Given the description of an element on the screen output the (x, y) to click on. 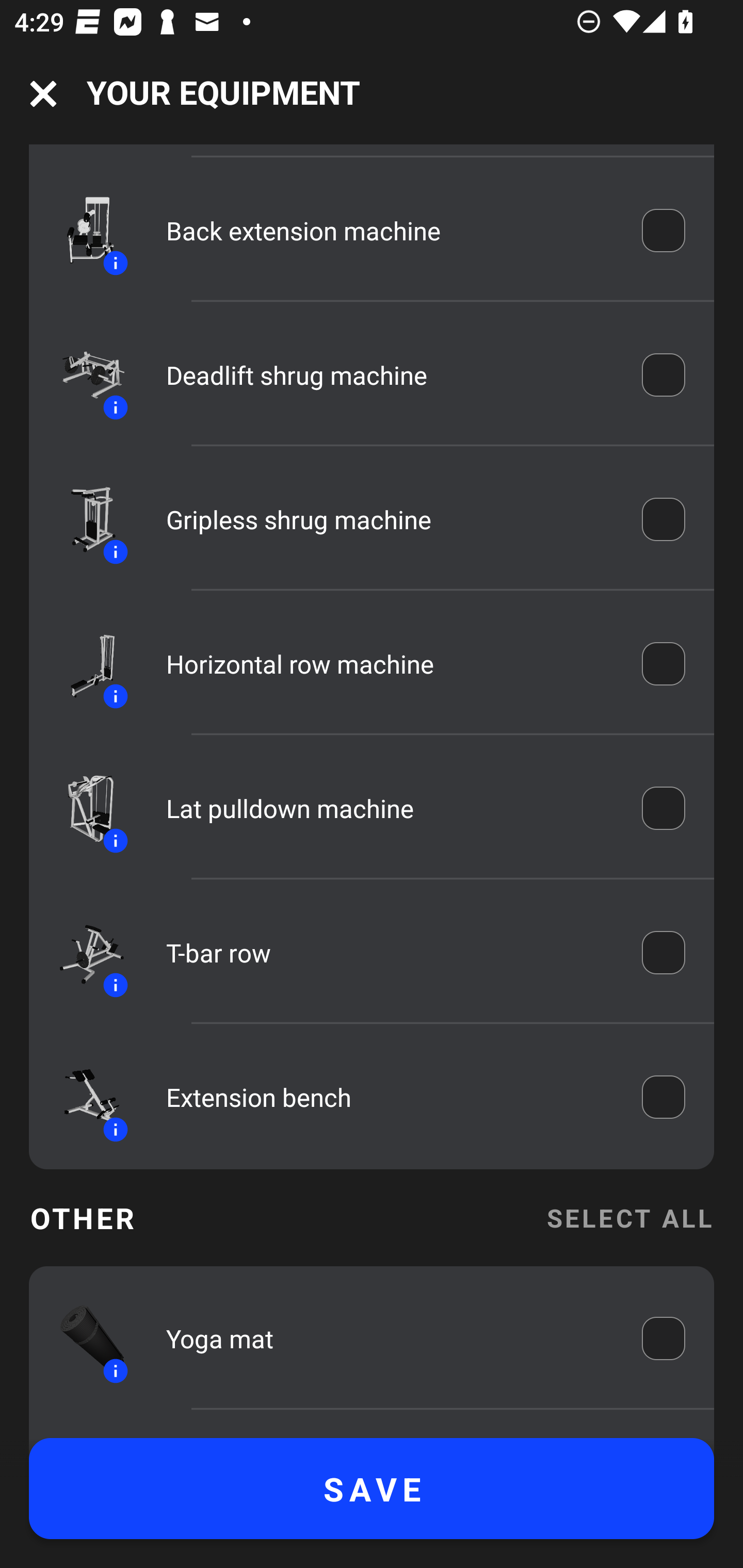
Navigation icon (43, 93)
Equipment icon Information icon (82, 230)
Back extension machine (389, 230)
Equipment icon Information icon (82, 375)
Deadlift shrug machine (389, 375)
Equipment icon Information icon (82, 519)
Gripless shrug machine (389, 519)
Equipment icon Information icon (82, 663)
Horizontal row machine (389, 663)
Equipment icon Information icon (82, 808)
Lat pulldown machine (389, 808)
Equipment icon Information icon (82, 952)
T-bar row (389, 952)
Equipment icon Information icon (82, 1096)
Extension bench (389, 1096)
SELECT ALL (629, 1217)
Equipment icon Information icon (82, 1338)
Yoga mat (389, 1338)
SAVE (371, 1488)
